Given the description of an element on the screen output the (x, y) to click on. 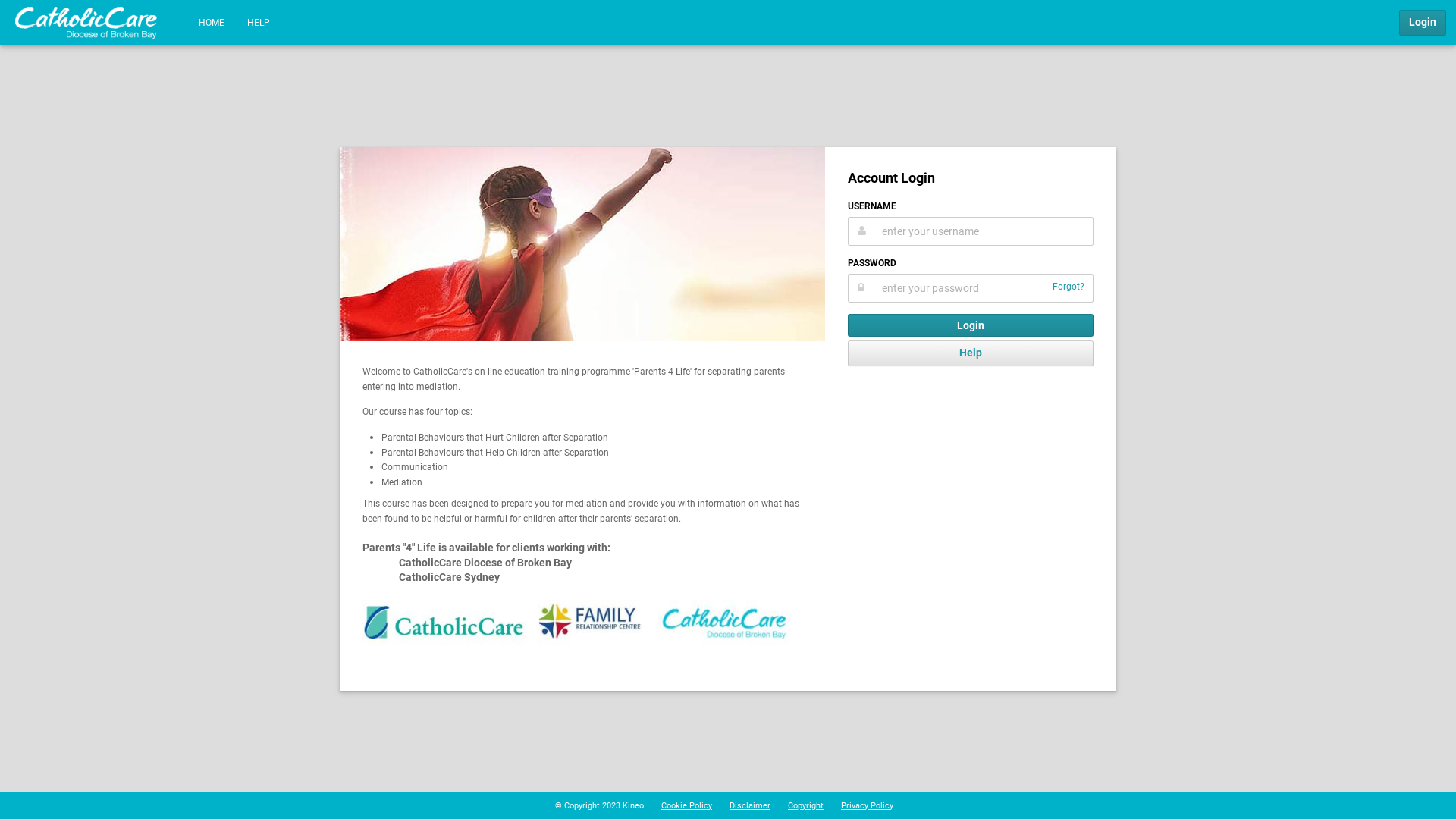
CatholicCare Home Element type: hover (86, 22)
Forgot? Element type: text (1068, 286)
Login Element type: text (970, 324)
Copyright Element type: text (805, 805)
Login Element type: text (1422, 22)
Disclaimer Element type: text (749, 805)
HOME Element type: text (211, 22)
HELP Element type: text (258, 22)
Help Element type: text (970, 353)
Cookie Policy Element type: text (686, 805)
Privacy Policy Element type: text (866, 805)
